Given the description of an element on the screen output the (x, y) to click on. 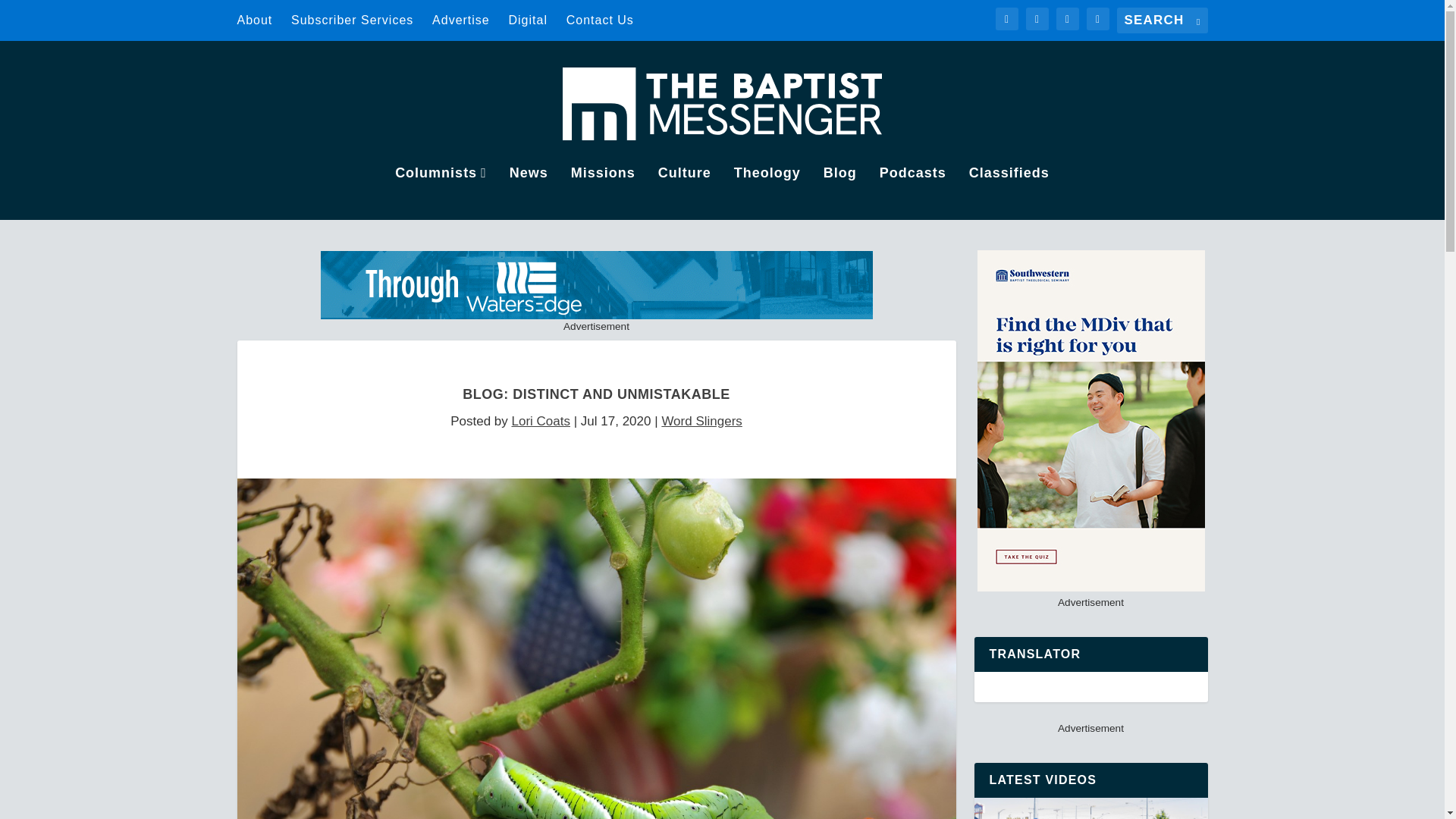
Columnists (440, 193)
Culture (684, 193)
About (253, 20)
Podcasts (912, 193)
Search for: (1161, 20)
Contact Us (599, 20)
Advertise (460, 20)
Missions (602, 193)
Posts by Lori Coats (540, 421)
Classifieds (1009, 193)
Digital (527, 20)
Theology (766, 193)
Subscriber Services (352, 20)
